Given the description of an element on the screen output the (x, y) to click on. 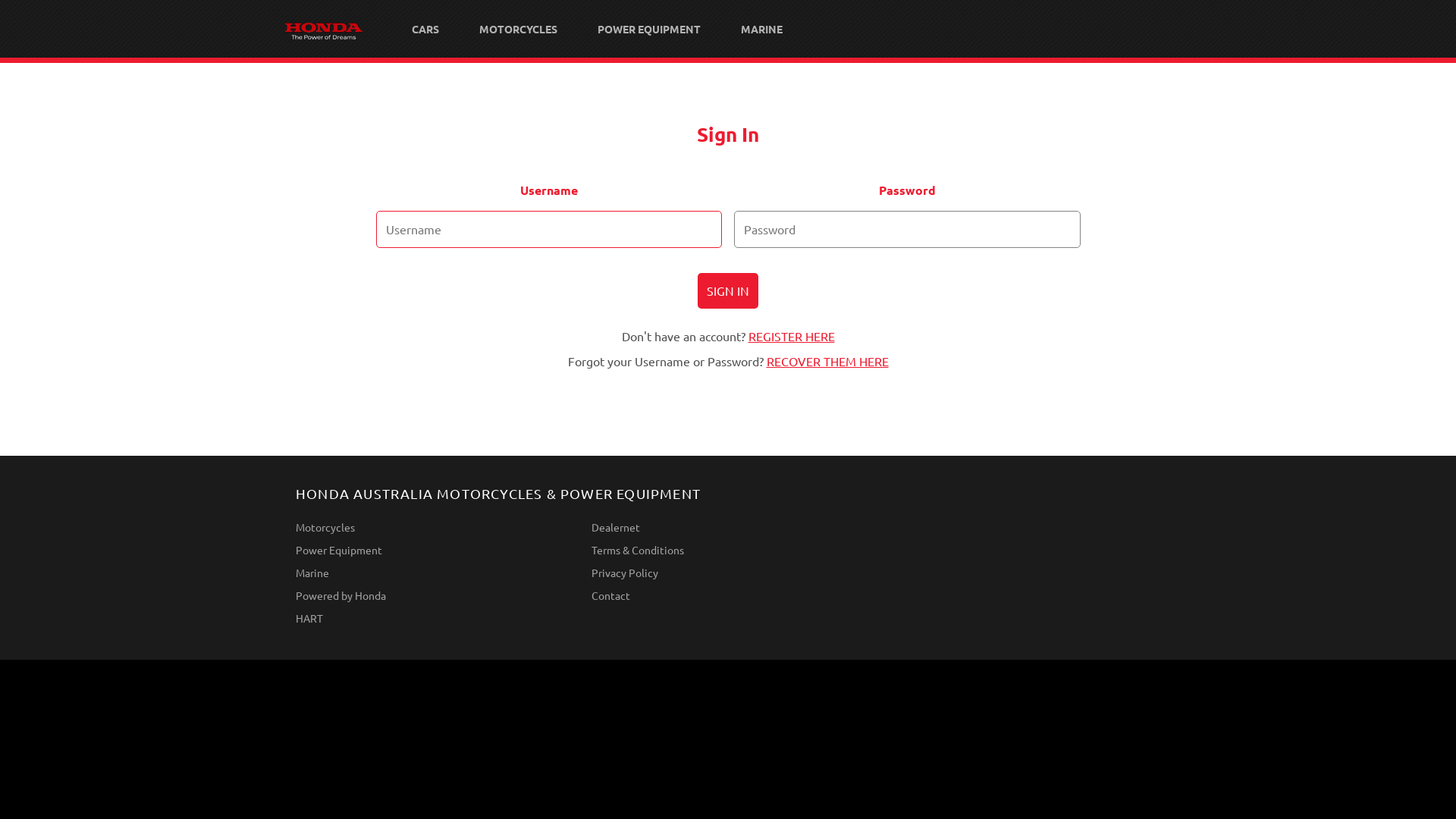
Power Equipment Element type: text (431, 549)
Sign In Element type: text (727, 290)
Powered by Honda Element type: text (431, 594)
MOTORCYCLES Element type: text (517, 28)
Privacy Policy Element type: text (727, 572)
POWER EQUIPMENT Element type: text (647, 28)
Terms & Conditions Element type: text (727, 549)
REGISTER HERE Element type: text (790, 335)
Marine Element type: text (431, 572)
HART Element type: text (431, 617)
Contact Element type: text (727, 594)
RECOVER THEM HERE Element type: text (826, 360)
MARINE Element type: text (761, 28)
Dealernet Element type: text (727, 526)
Motorcycles Element type: text (431, 526)
CARS Element type: text (425, 28)
